Given the description of an element on the screen output the (x, y) to click on. 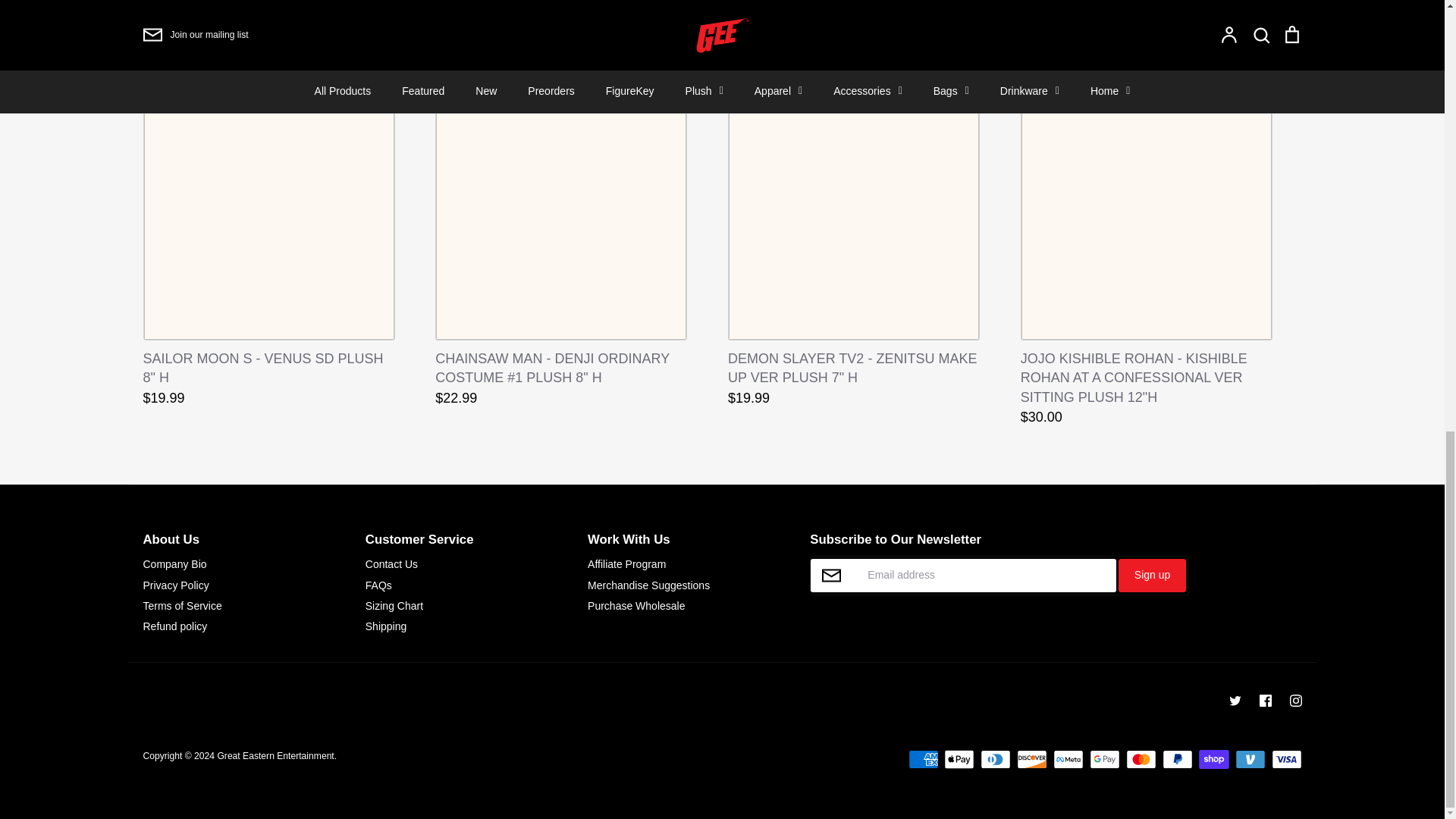
Shop Pay (1213, 759)
American Express (923, 759)
PayPal (1176, 759)
Diners Club (994, 759)
Apple Pay (958, 759)
Mastercard (1140, 759)
Google Pay (1104, 759)
Discover (1031, 759)
Meta Pay (1067, 759)
